Given the description of an element on the screen output the (x, y) to click on. 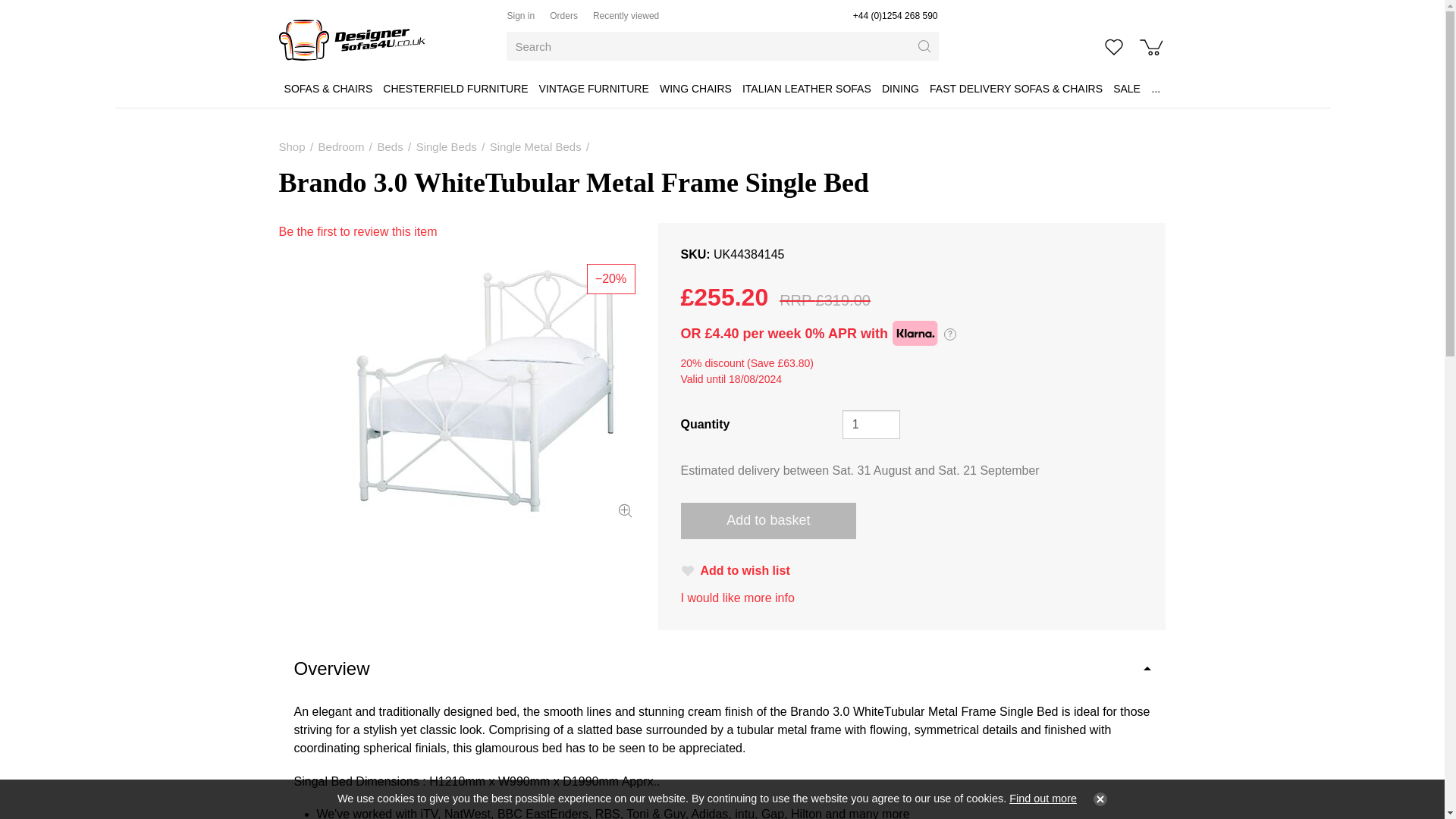
Annual Percentage Rate (842, 333)
Brando 3.0 WhiteTubular Metal Frame Single Bed (456, 392)
Orders (564, 15)
Order tracking (564, 15)
Add to basket (769, 520)
Sign in (520, 15)
Deposit calculator (949, 334)
